Given the description of an element on the screen output the (x, y) to click on. 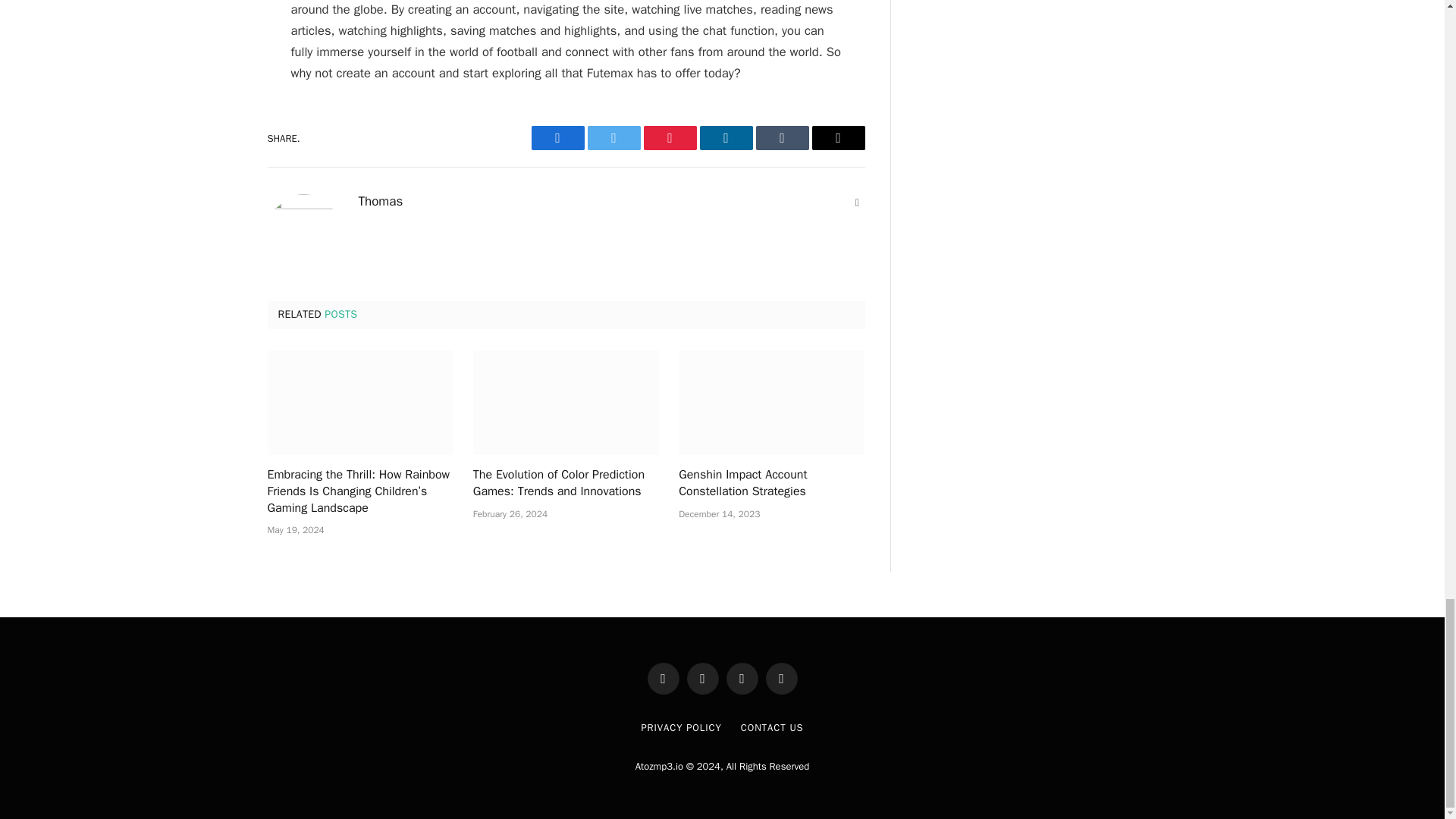
Twitter (613, 137)
Pinterest (669, 137)
Facebook (557, 137)
